Given the description of an element on the screen output the (x, y) to click on. 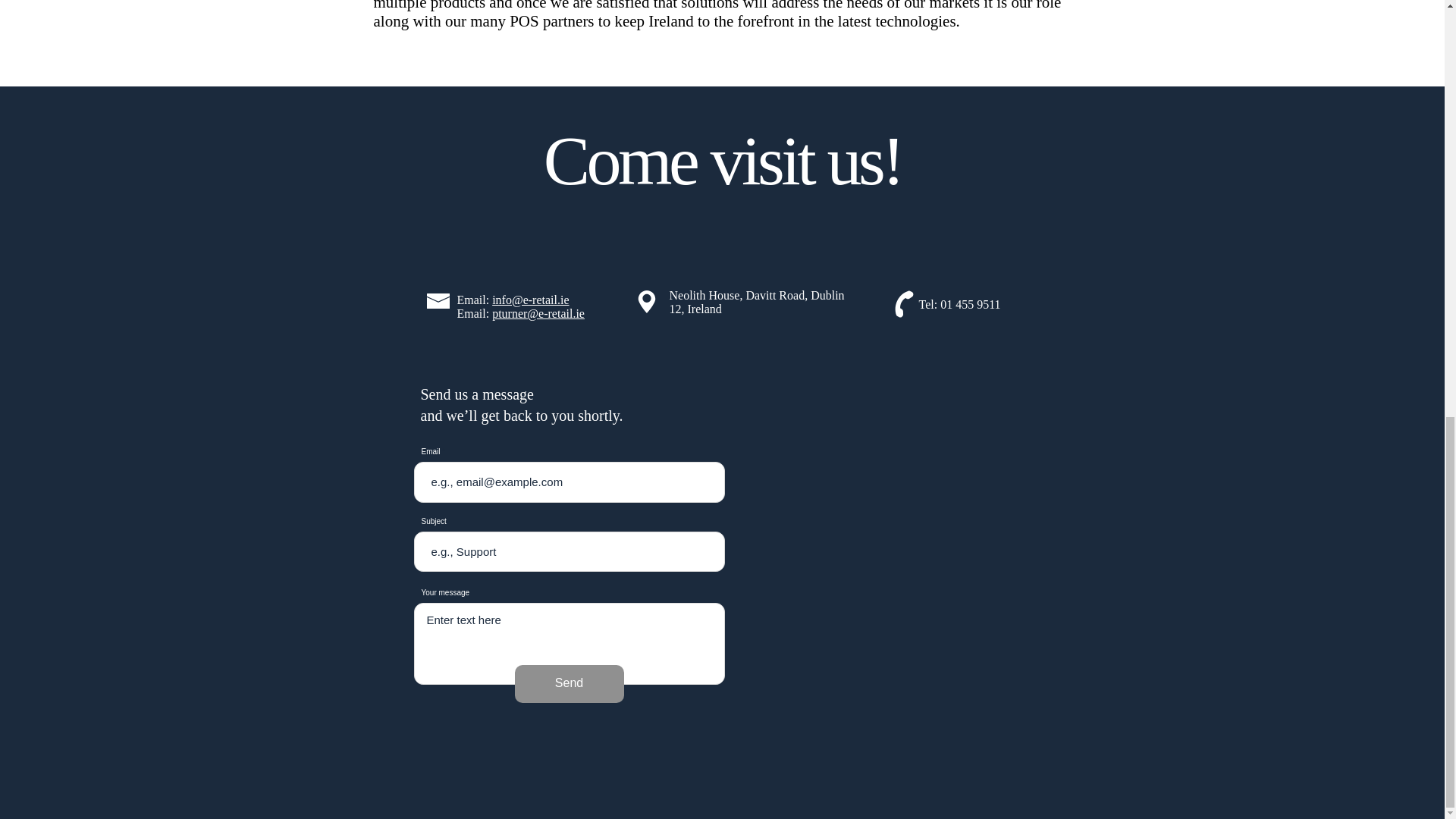
Email:  (474, 299)
Send (568, 683)
